Given the description of an element on the screen output the (x, y) to click on. 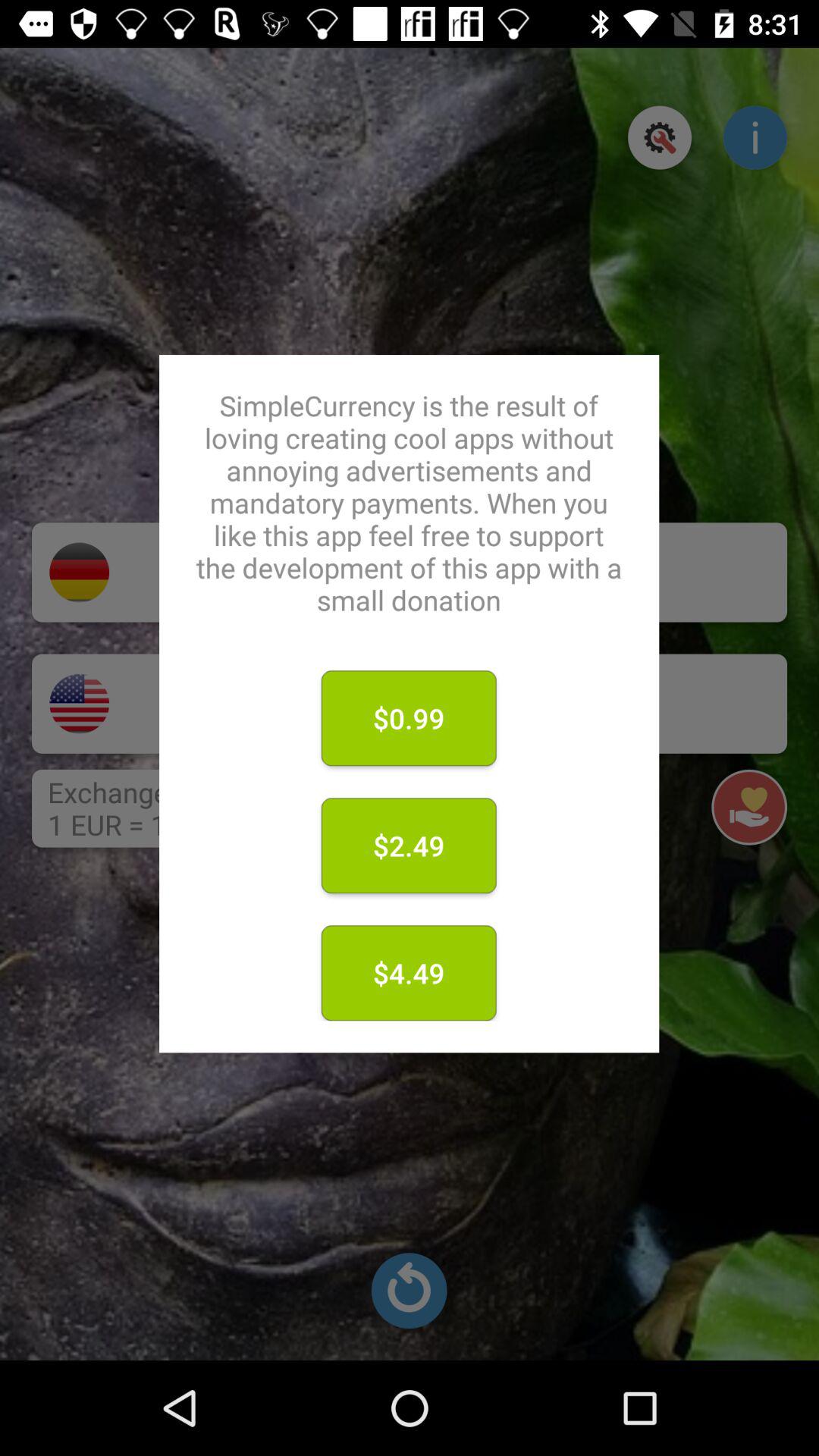
refresh option (409, 1290)
